Given the description of an element on the screen output the (x, y) to click on. 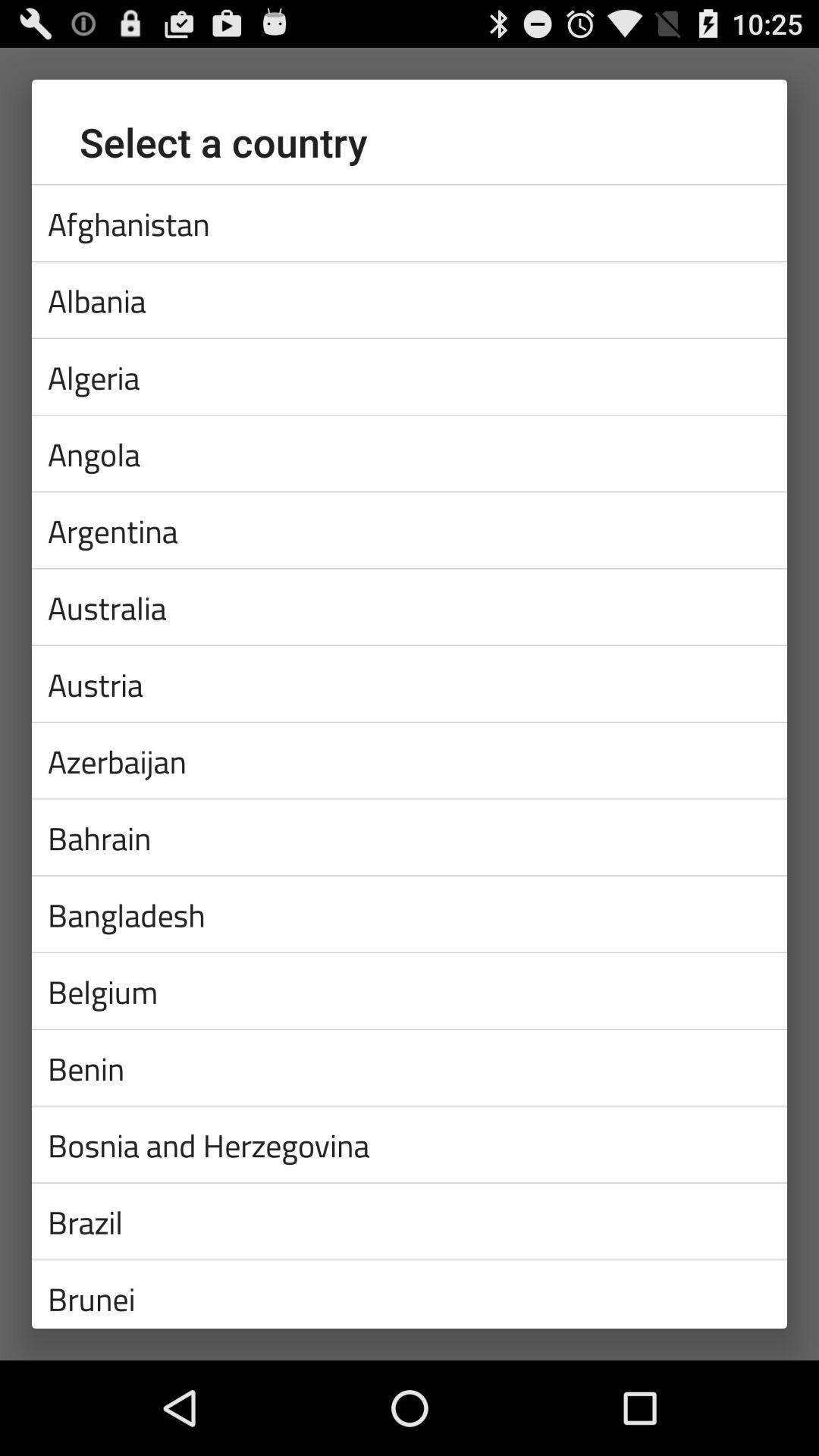
choose australia icon (409, 606)
